Given the description of an element on the screen output the (x, y) to click on. 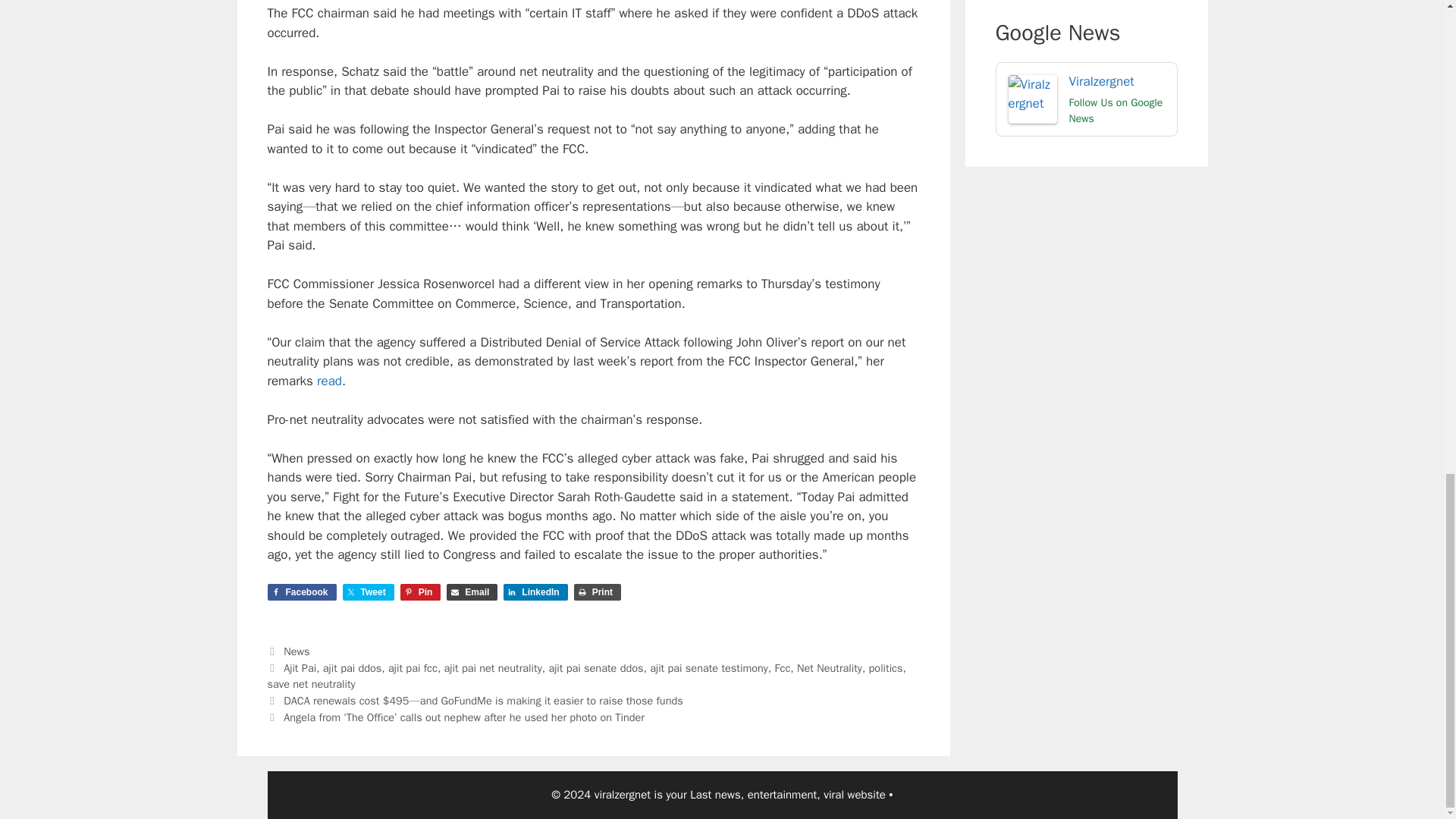
Facebook (301, 591)
Viralzergnet (1085, 99)
ajit pai net neutrality (492, 667)
ajit pai ddos (352, 667)
Share on Twitter (368, 591)
Share via Email (471, 591)
Pin (420, 591)
Email (471, 591)
ajit pai senate testimony (708, 667)
Print (597, 591)
Fcc (782, 667)
Ajit Pai (299, 667)
ajit pai senate ddos (595, 667)
Tweet (368, 591)
Share on Pinterest (420, 591)
